Given the description of an element on the screen output the (x, y) to click on. 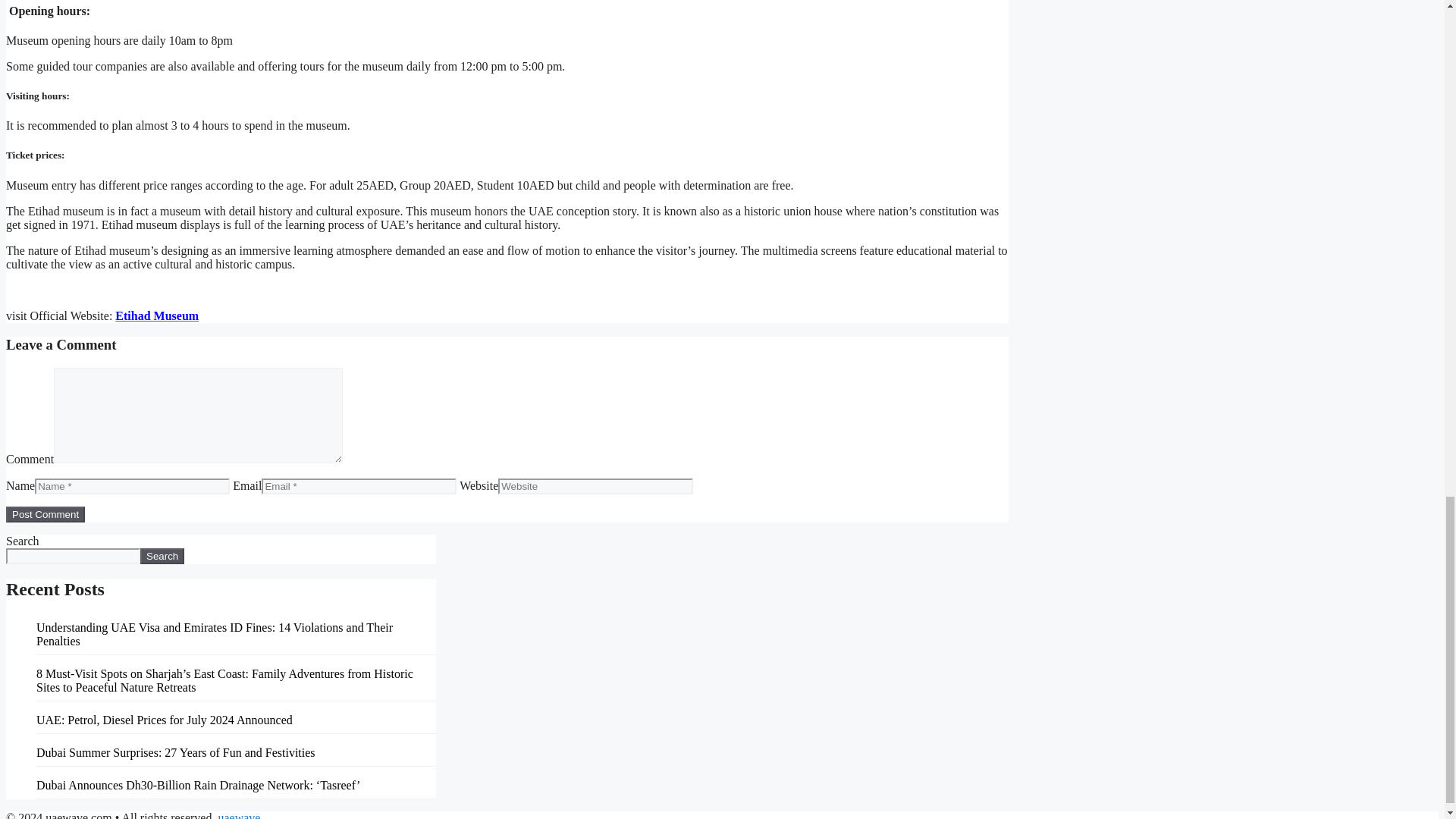
Post Comment (44, 514)
Etihad Museum (156, 315)
Post Comment (44, 514)
Dubai Summer Surprises: 27 Years of Fun and Festivities (175, 752)
UAE: Petrol, Diesel Prices for July 2024 Announced (164, 719)
Search (161, 555)
